Given the description of an element on the screen output the (x, y) to click on. 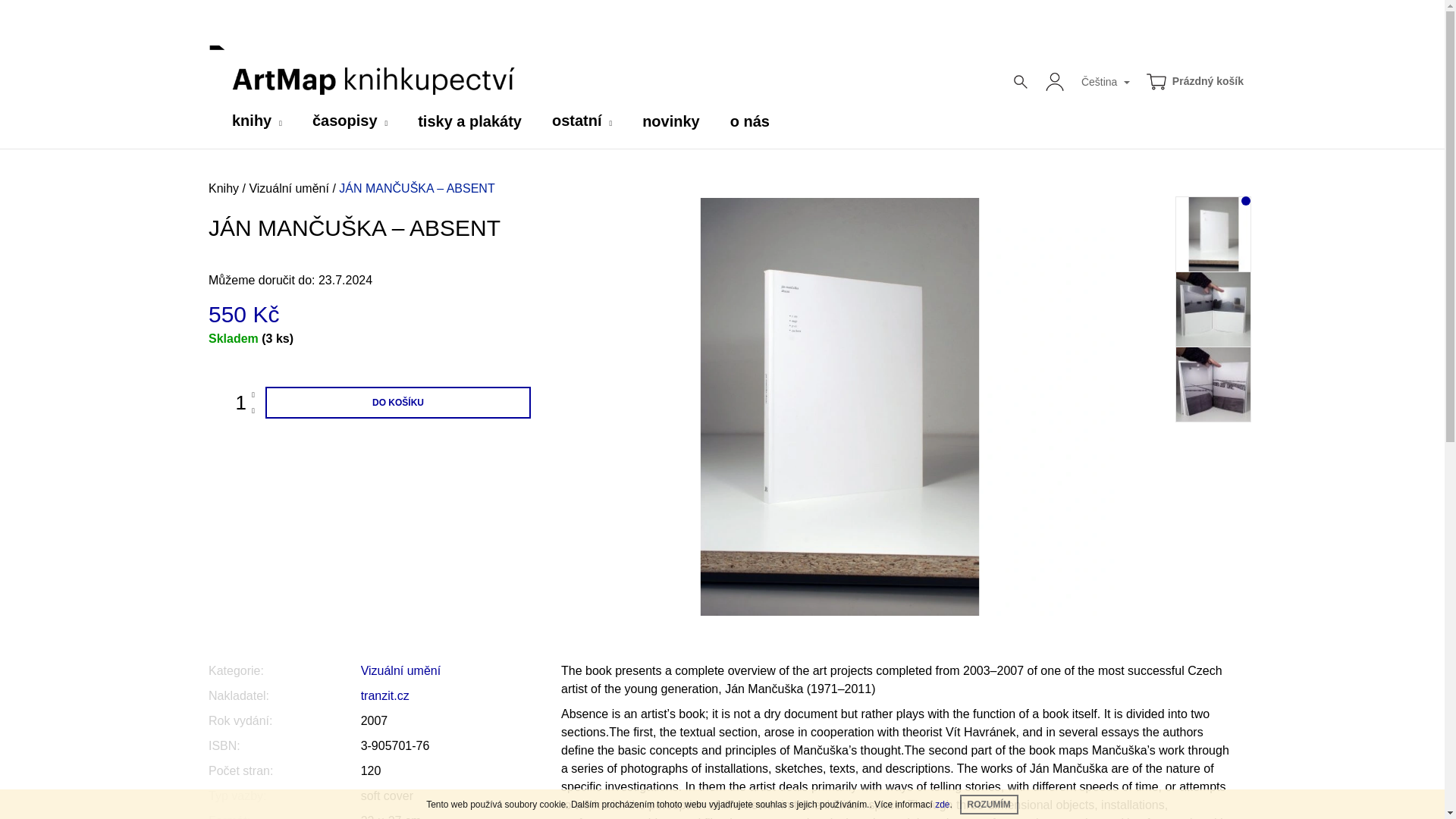
1 (227, 402)
knihy (256, 121)
HLEDAT (1020, 81)
